Given the description of an element on the screen output the (x, y) to click on. 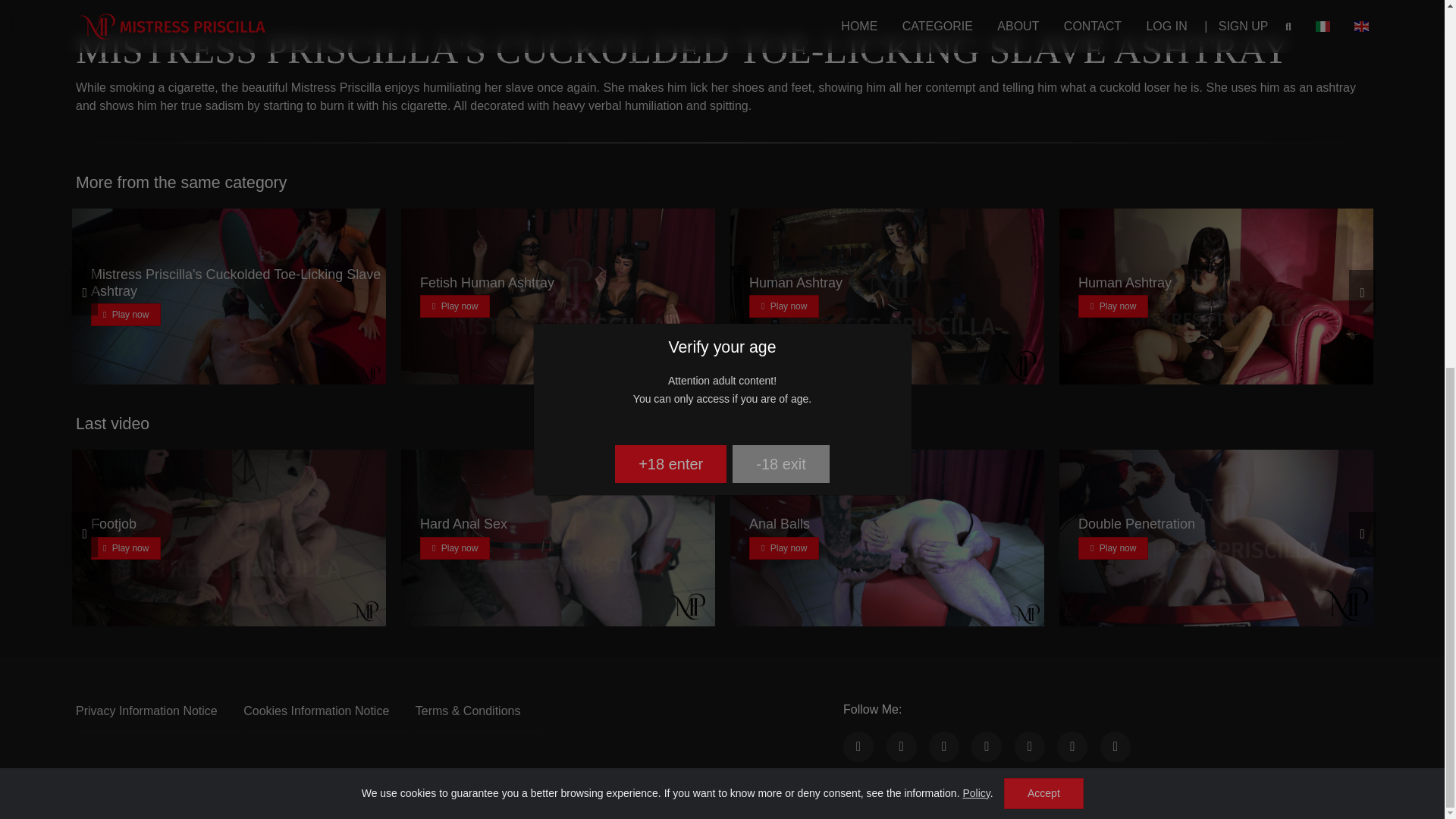
Play now (125, 314)
Fetish Human Ashtray (487, 282)
Human Ashtray (796, 282)
Human Ashtray (1125, 282)
Privacy Information Notice (145, 710)
Mistress Priscilla'S Cuckolded Toe-Licking Slave Ashtray (235, 282)
Cookies Information Notice (315, 710)
Play now (1113, 305)
Play now (783, 305)
More from the same category (180, 182)
Play now (454, 305)
Policy (976, 130)
